Given the description of an element on the screen output the (x, y) to click on. 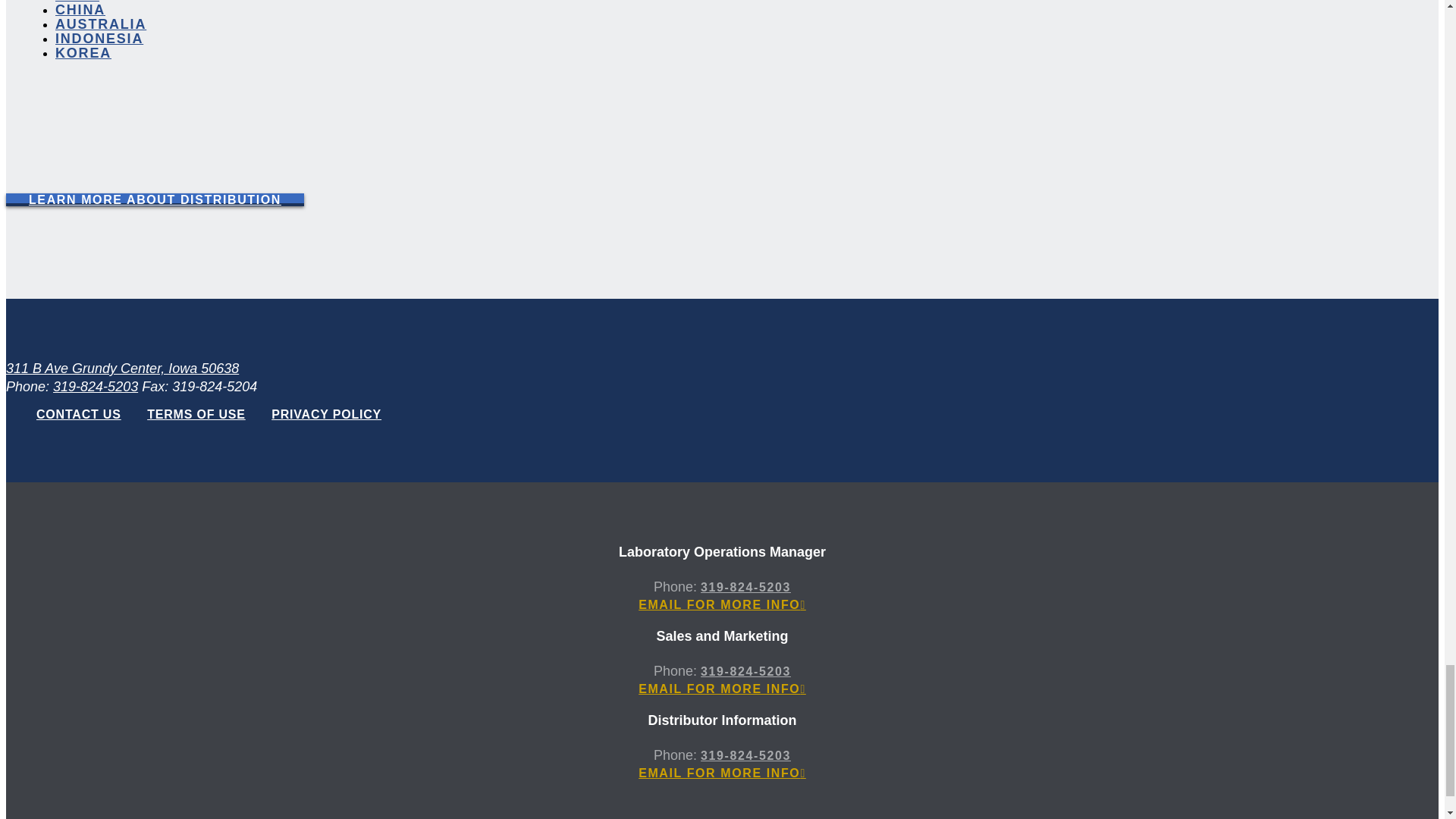
319-824-5203 (95, 386)
AUSTRALIA (101, 23)
CONTACT US (78, 413)
INDONESIA (98, 38)
LEARN MORE ABOUT DISTRIBUTION (154, 199)
CHINA (79, 9)
KOREA (83, 52)
INDIA (77, 1)
311 B Ave Grundy Center, Iowa 50638 (121, 368)
